Given the description of an element on the screen output the (x, y) to click on. 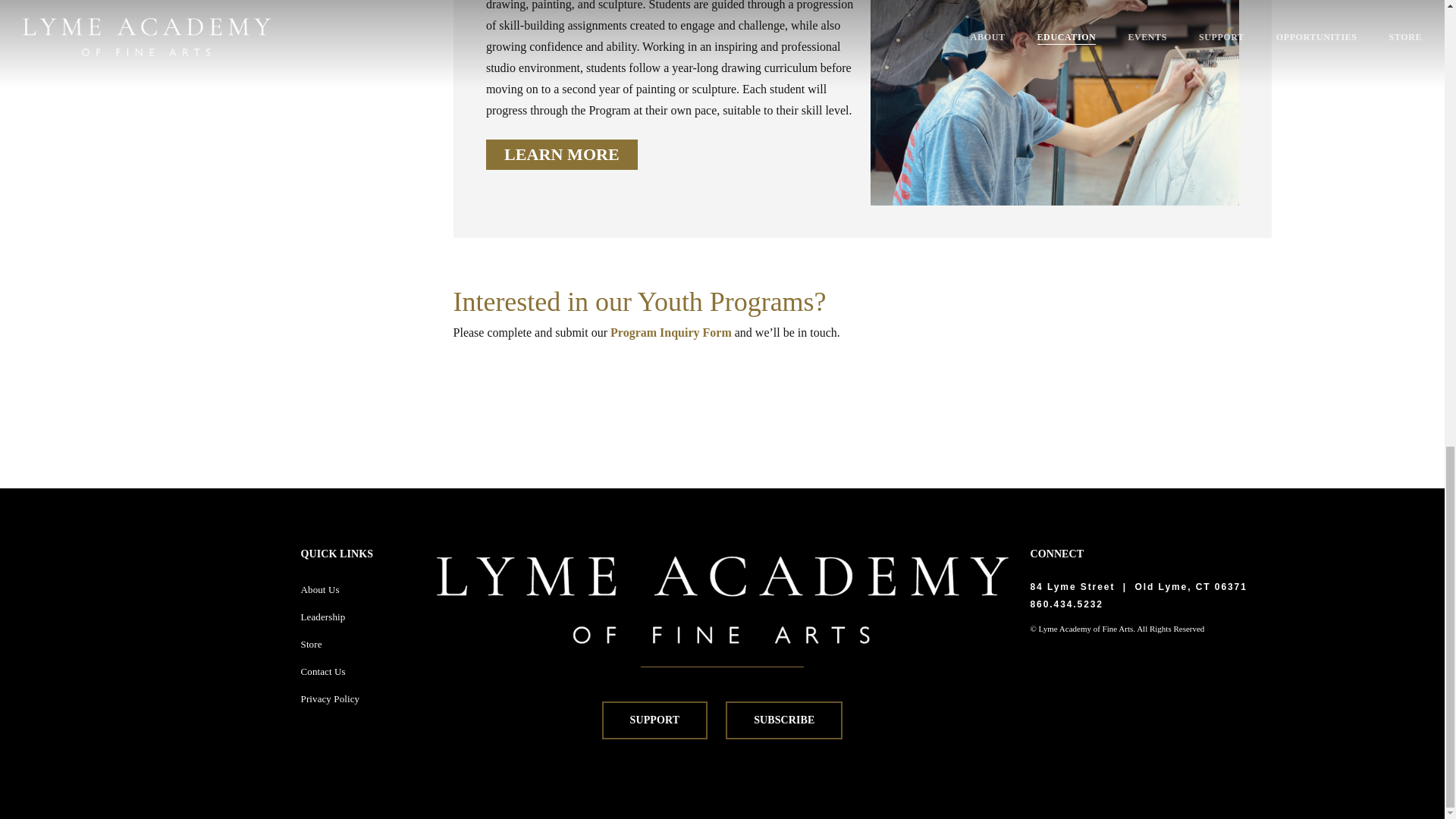
About Us (320, 589)
Program Inquiry Form (671, 332)
Leadership (323, 616)
LEARN MORE (561, 154)
